Given the description of an element on the screen output the (x, y) to click on. 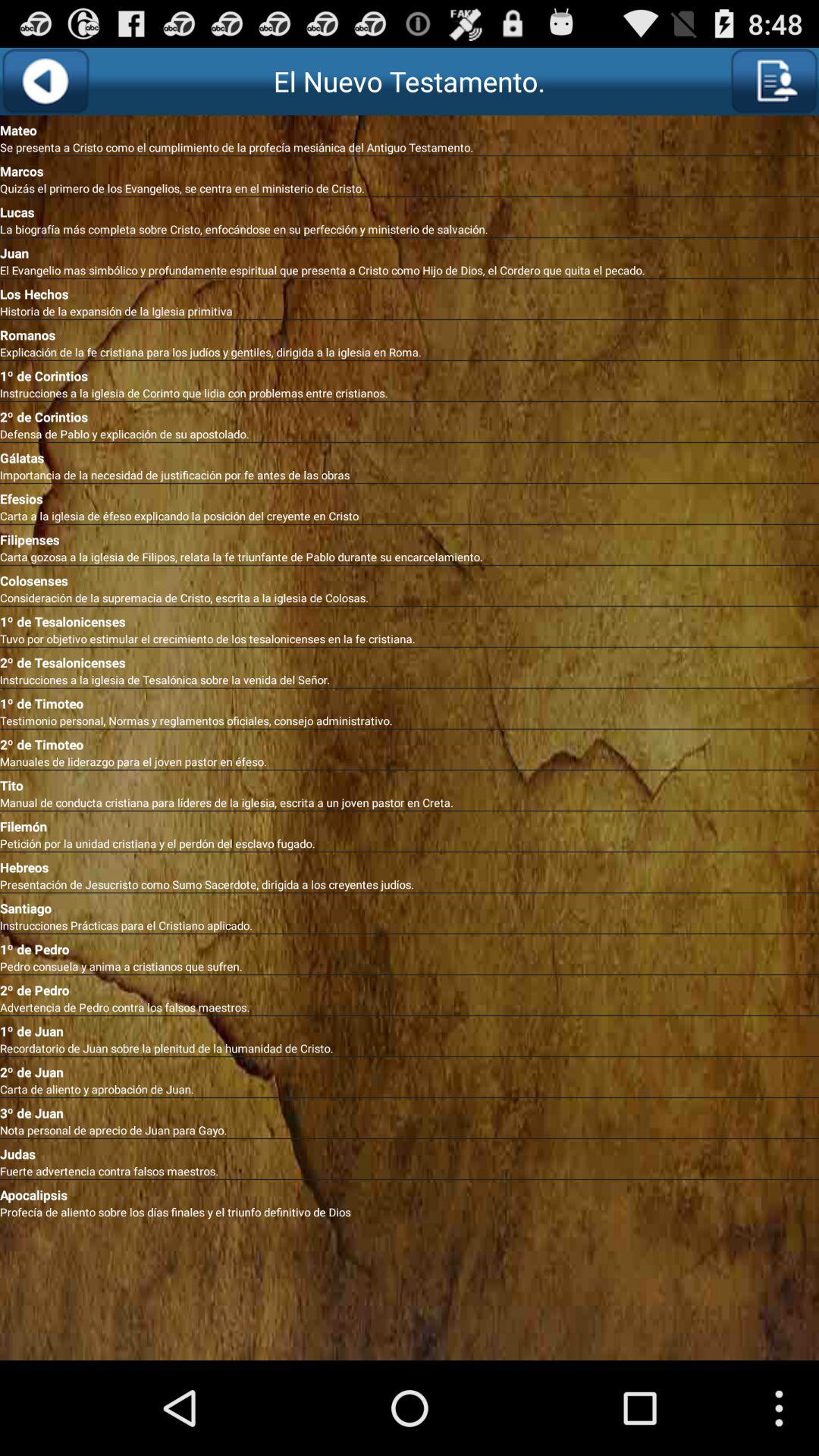
tap item at the top right corner (773, 81)
